Given the description of an element on the screen output the (x, y) to click on. 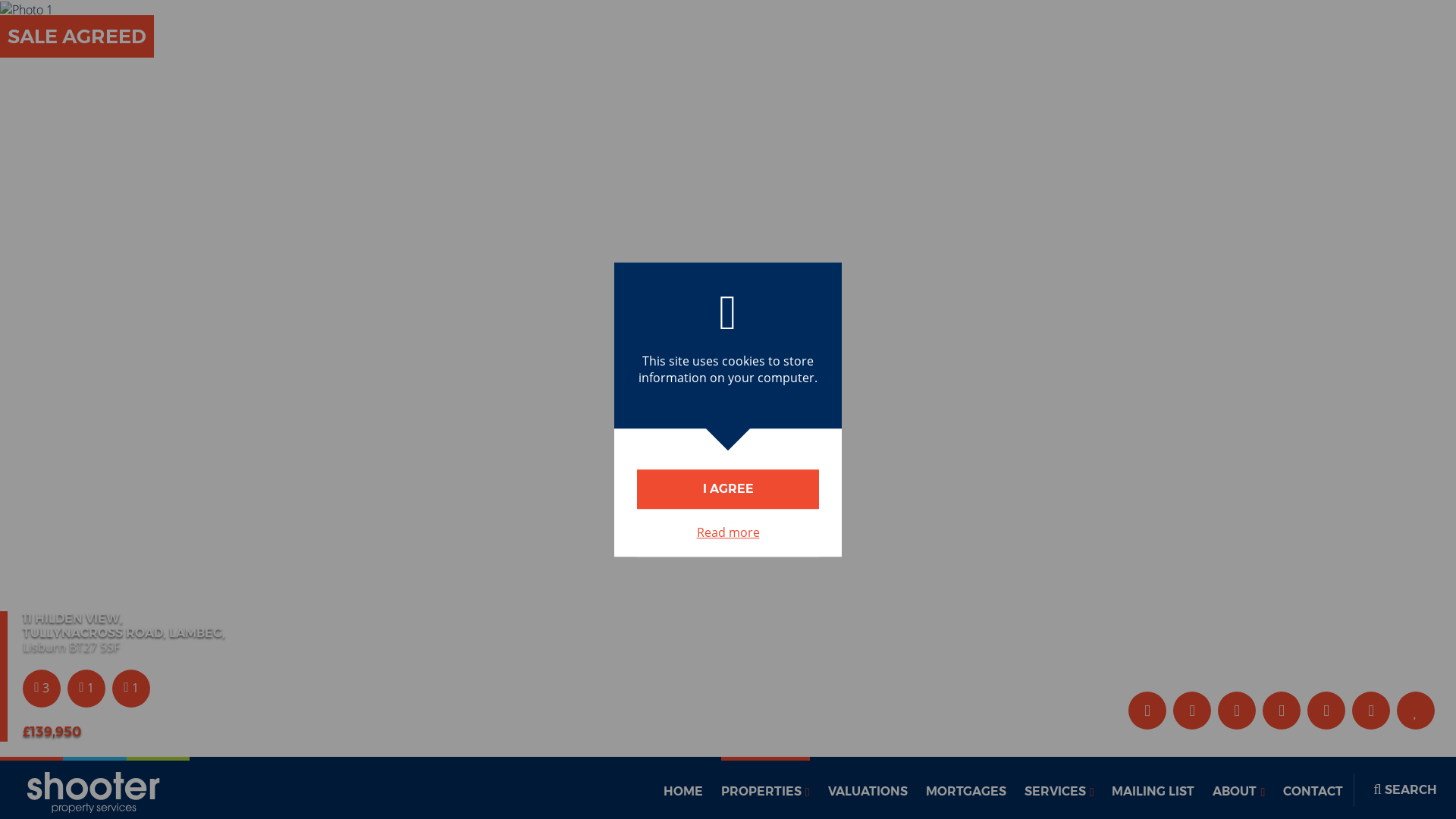
Red Bar Blue Bar Green Bar (94, 787)
MAILING LIST (1152, 787)
VALUATIONS (867, 787)
I AGREE (727, 488)
MORTGAGES (966, 787)
PROPERTIES (764, 787)
SERVICES (1059, 787)
Read more (727, 532)
CONTACT (1312, 787)
